Given the description of an element on the screen output the (x, y) to click on. 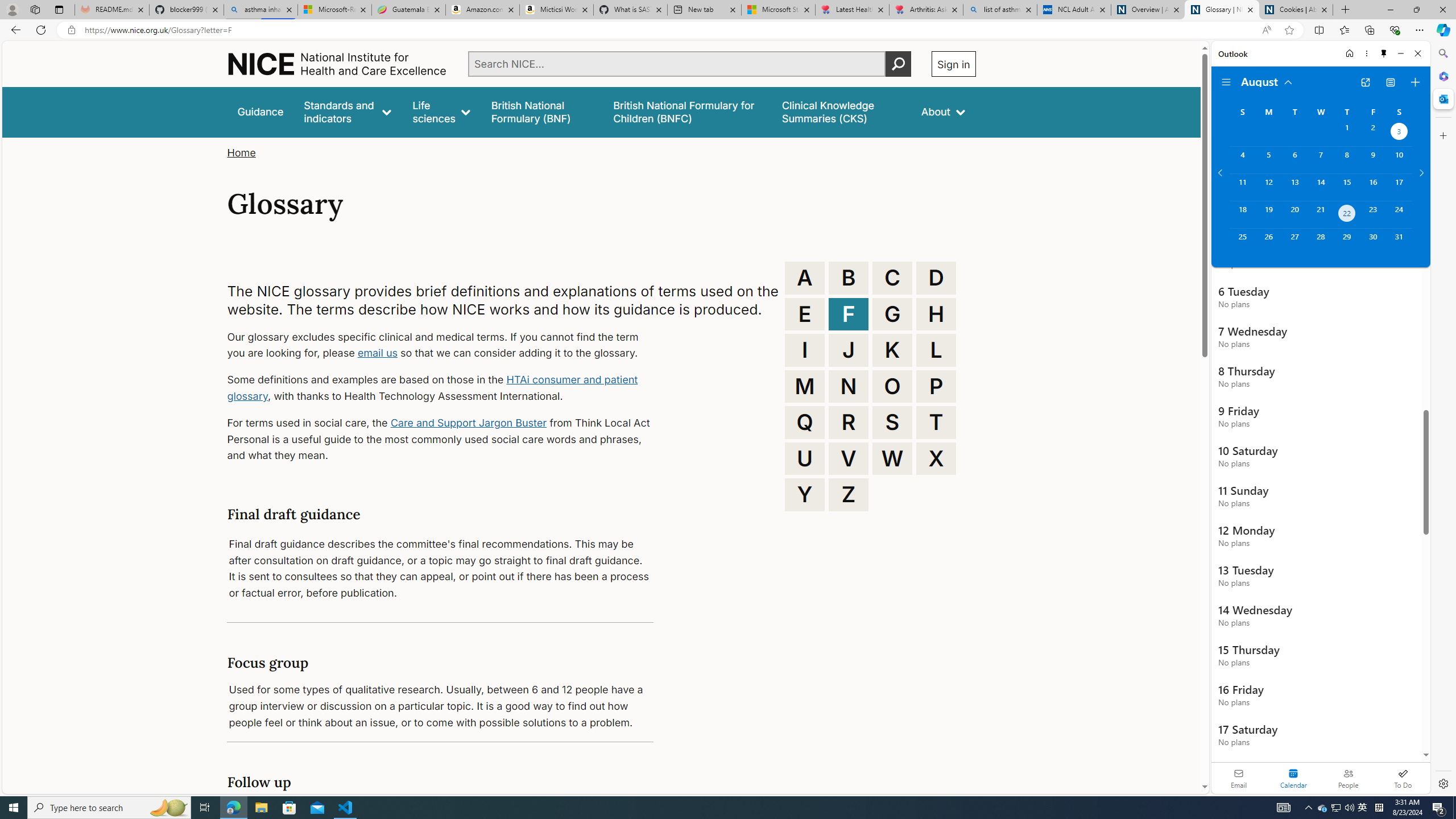
P (935, 385)
Tuesday, August 13, 2024.  (1294, 186)
asthma inhaler - Search (260, 9)
Saturday, August 17, 2024.  (1399, 186)
J (848, 350)
Sunday, August 4, 2024.  (1242, 159)
K (892, 350)
